Given the description of an element on the screen output the (x, y) to click on. 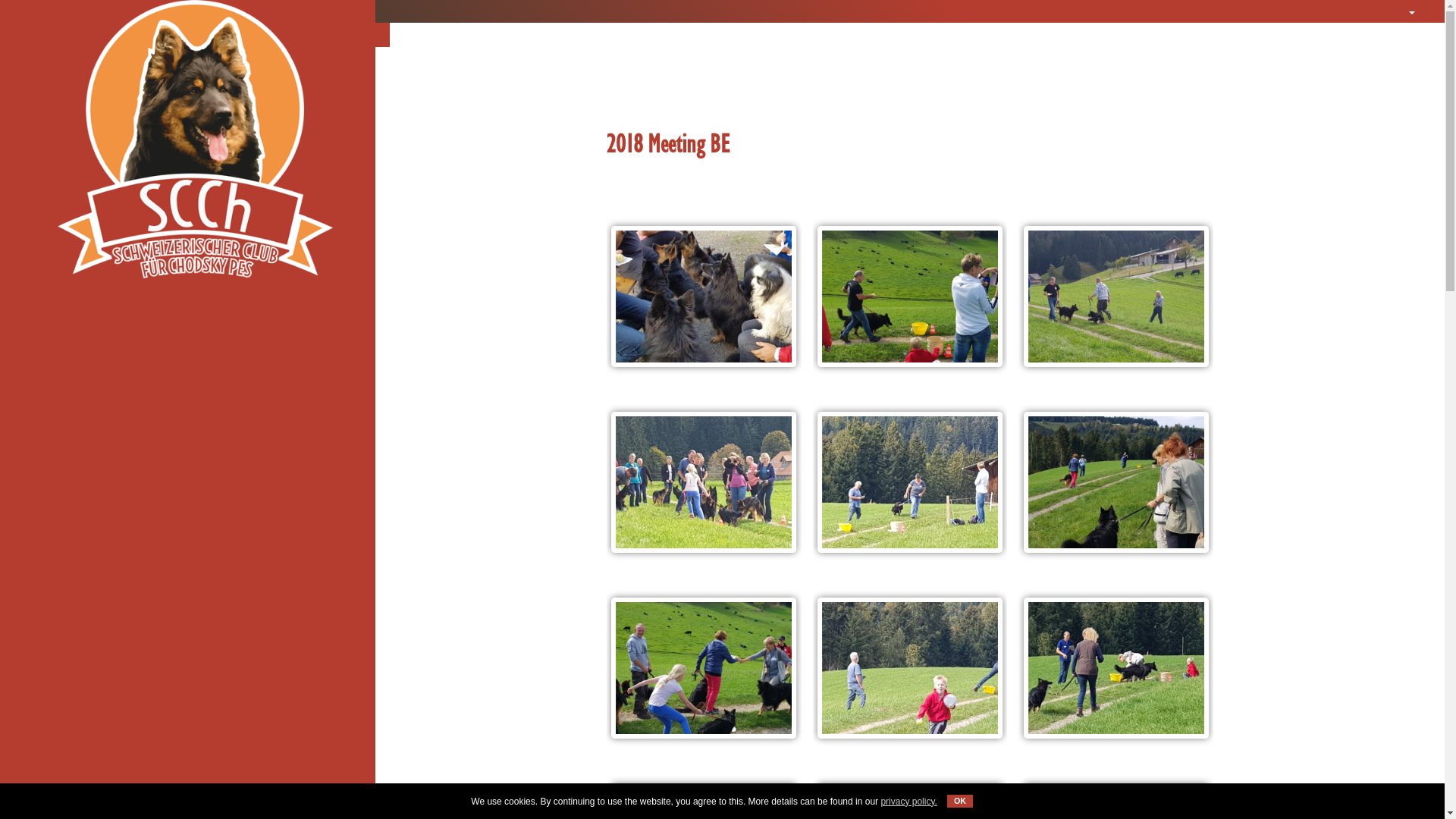
OK Element type: text (959, 800)
privacy policy. Element type: text (909, 800)
